Given the description of an element on the screen output the (x, y) to click on. 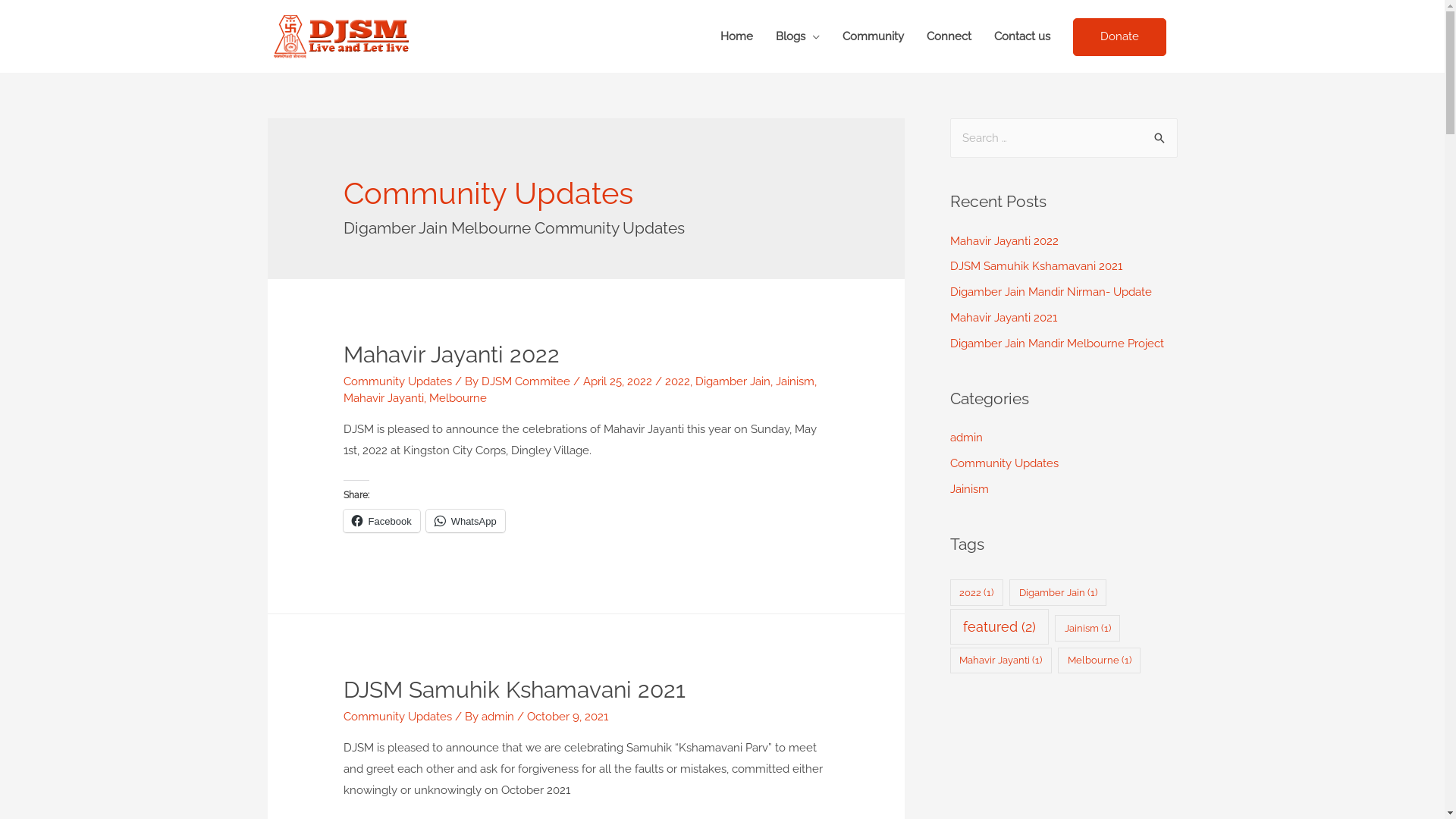
Jainism Element type: text (968, 488)
Digamber Jain Element type: text (732, 381)
Jainism Element type: text (794, 381)
2022 (1) Element type: text (975, 592)
Mahavir Jayanti 2021 Element type: text (1002, 317)
Digamber Jain Mandir Melbourne Project Element type: text (1056, 343)
Jainism (1) Element type: text (1087, 628)
Donate Element type: text (1118, 37)
DJSM Samuhik Kshamavani 2021 Element type: text (514, 689)
Community Updates Element type: text (1003, 463)
Digamber Jain Mandir Nirman- Update Element type: text (1050, 291)
Community Updates Element type: text (397, 381)
Search Element type: text (1160, 138)
Home Element type: text (735, 36)
2022 Element type: text (677, 381)
Donate Element type: text (1118, 36)
WhatsApp Element type: text (465, 520)
Connect Element type: text (948, 36)
Mahavir Jayanti Element type: text (383, 397)
Community Element type: text (873, 36)
DJSM Samuhik Kshamavani 2021 Element type: text (1035, 266)
Community Updates Element type: text (397, 716)
admin Element type: text (499, 716)
admin Element type: text (965, 437)
Mahavir Jayanti (1) Element type: text (1000, 660)
Blogs Element type: text (797, 36)
Contact us Element type: text (1021, 36)
Mahavir Jayanti 2022 Element type: text (451, 354)
Facebook Element type: text (381, 520)
Digamber Jain (1) Element type: text (1057, 592)
Mahavir Jayanti 2022 Element type: text (1003, 240)
Melbourne (1) Element type: text (1098, 660)
featured (2) Element type: text (998, 625)
Melbourne Element type: text (457, 397)
DJSM Commitee Element type: text (527, 381)
